Given the description of an element on the screen output the (x, y) to click on. 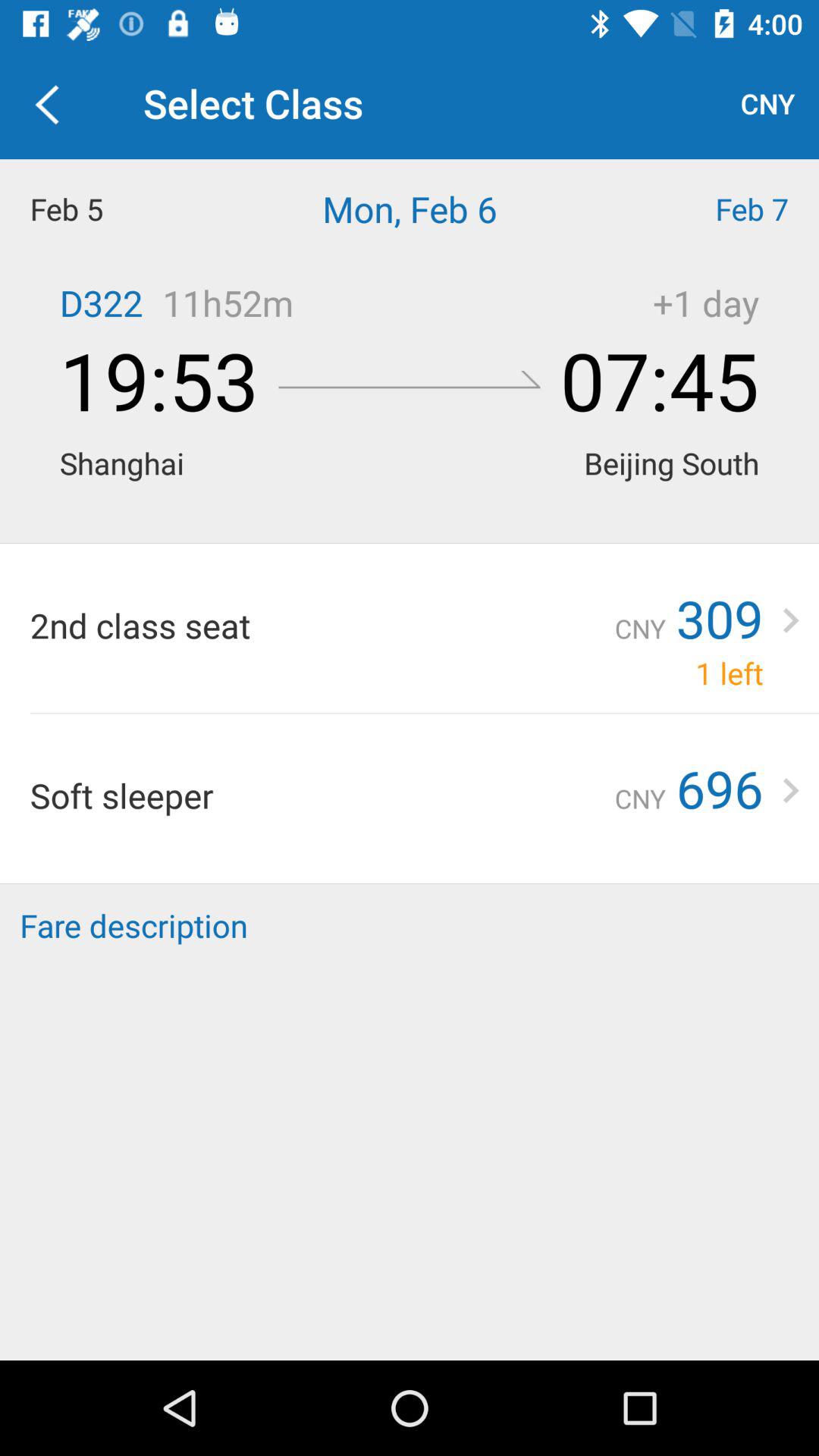
select the icon below the cny (716, 208)
